Given the description of an element on the screen output the (x, y) to click on. 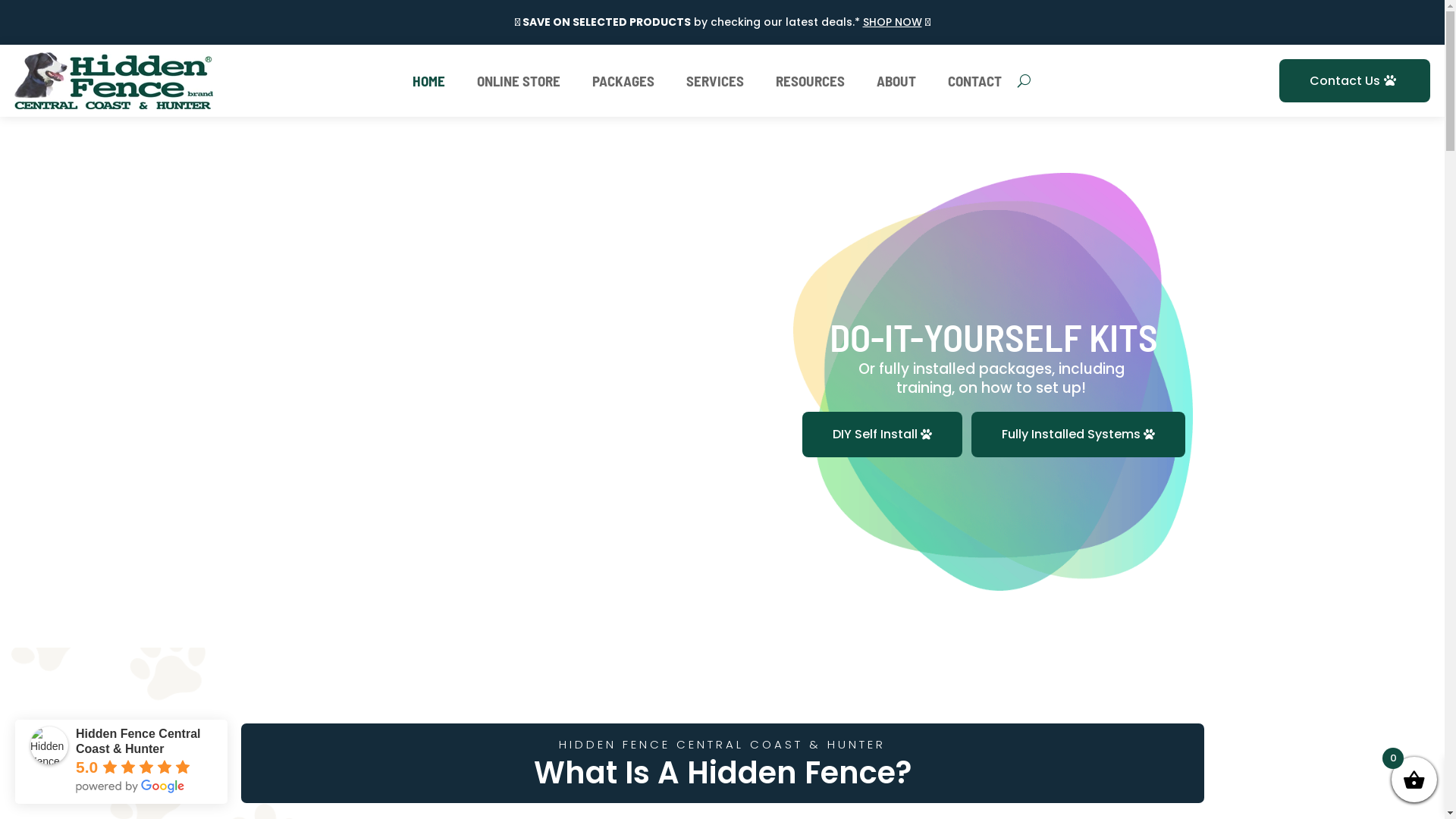
ONLINE STORE Element type: text (518, 83)
ABOUT Element type: text (896, 83)
logo Element type: hover (113, 80)
Fully Installed Systems Element type: text (1077, 434)
powered by Google Element type: hover (130, 786)
SHOP NOW Element type: text (892, 21)
HOME Element type: text (428, 83)
RESOURCES Element type: text (810, 83)
Hidden Fence Central Coast & Hunter Element type: hover (49, 745)
CONTACT Element type: text (974, 83)
Hidden Fence Central Coast & Hunter Element type: text (137, 741)
Contact Us Element type: text (1354, 80)
PACKAGES Element type: text (623, 83)
SERVICES Element type: text (714, 83)
DIY Self Install Element type: text (882, 434)
